Given the description of an element on the screen output the (x, y) to click on. 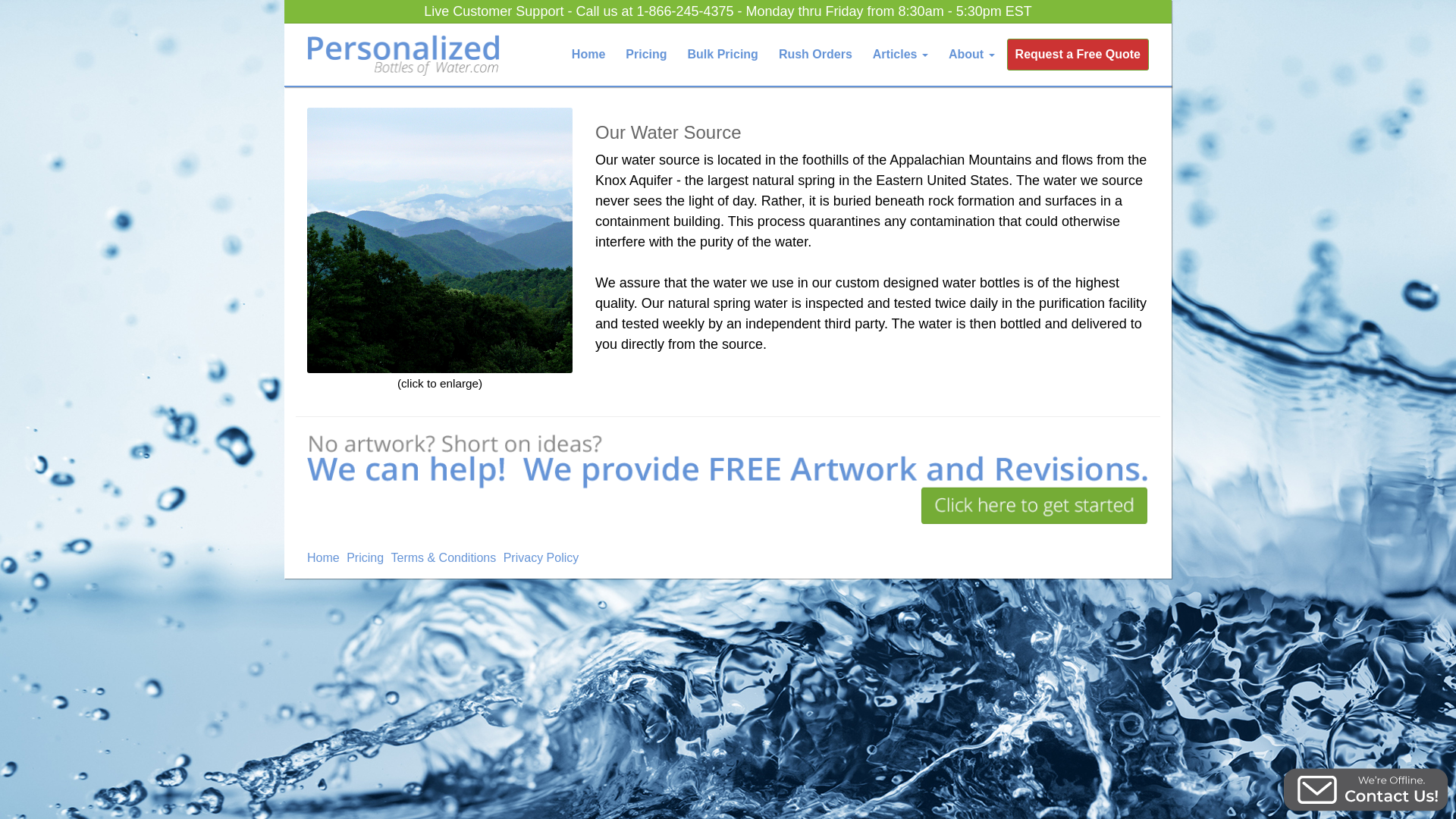
Pricing (366, 557)
Articles (900, 54)
Quick Ship Bottled Water (815, 54)
Home (325, 557)
Pricing (646, 54)
Privacy Policy (543, 557)
Bulk Pricing (723, 54)
About (971, 54)
Request a Free Quote (1077, 54)
Rush Orders (815, 54)
Home (587, 54)
